Given the description of an element on the screen output the (x, y) to click on. 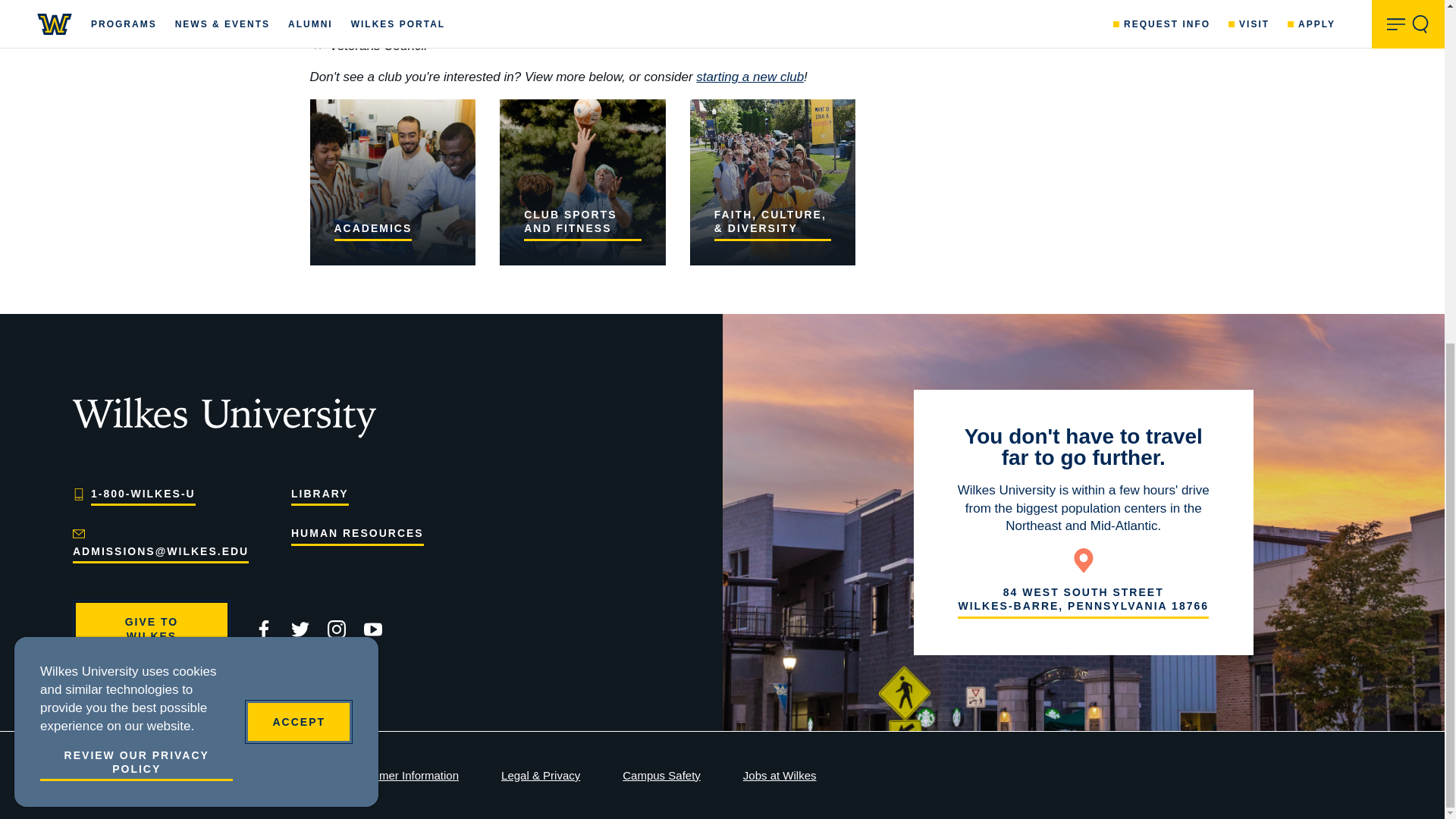
ACCEPT (298, 136)
REVIEW OUR PRIVACY POLICY (136, 178)
